Given the description of an element on the screen output the (x, y) to click on. 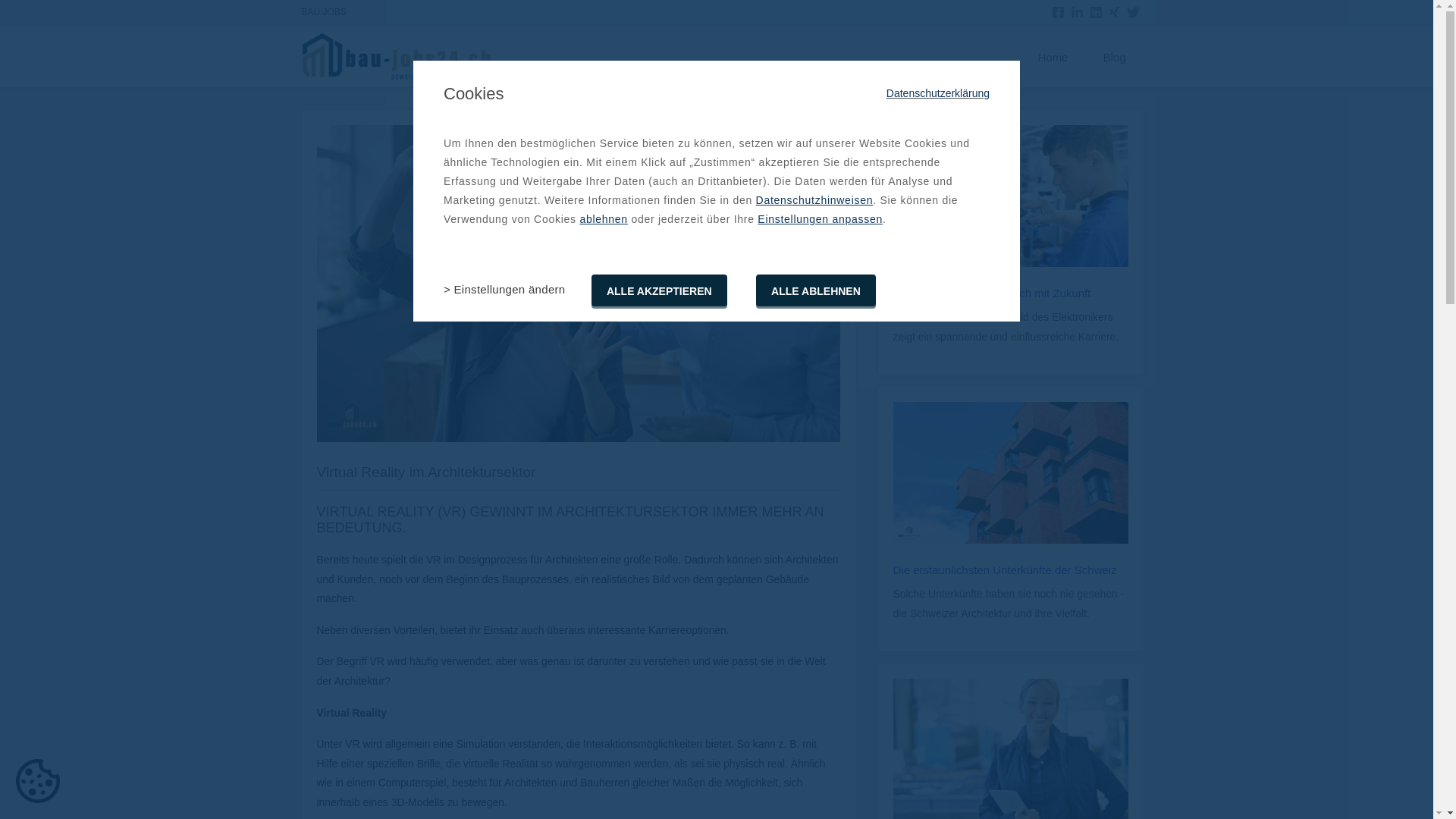
ablehnen Element type: text (603, 219)
Datenschutzhinweisen Element type: text (814, 200)
Home Element type: text (1052, 57)
Einstellungen anpassen Element type: text (819, 219)
Blog Element type: text (1113, 57)
